Given the description of an element on the screen output the (x, y) to click on. 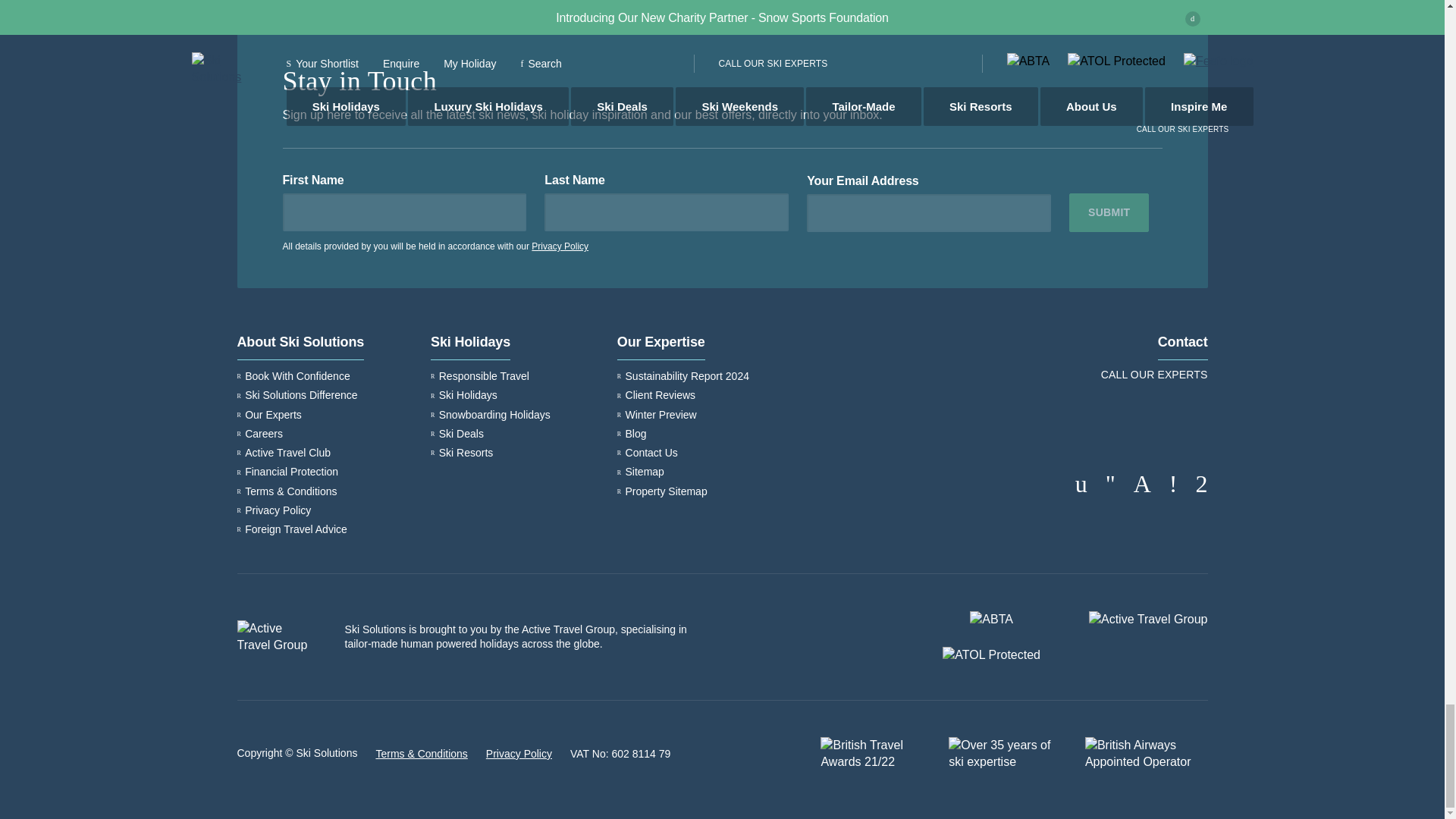
Submit (1108, 212)
